Given the description of an element on the screen output the (x, y) to click on. 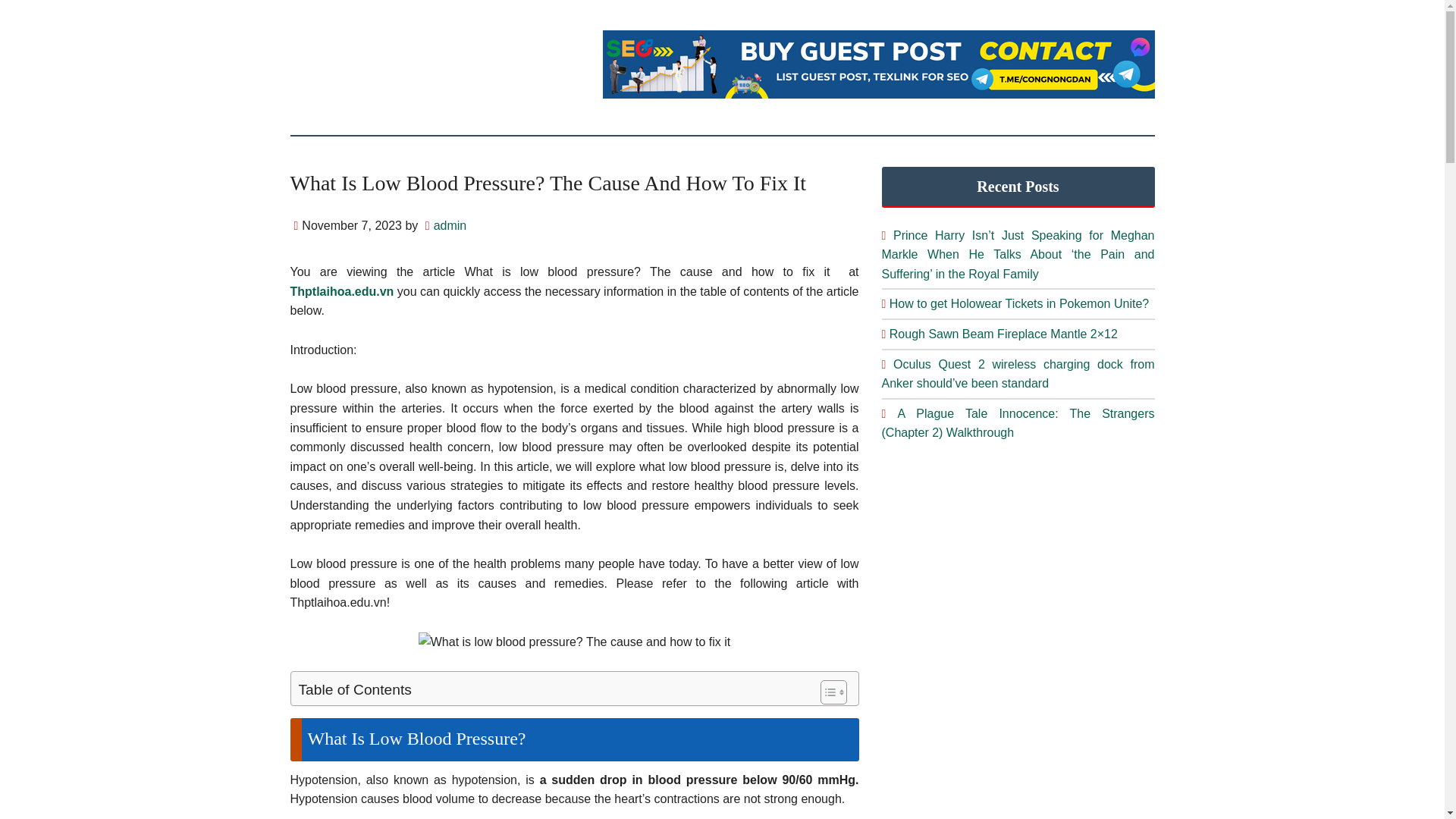
How to get Holowear Tickets in Pokemon Unite? (1018, 303)
admin (450, 225)
Thptlaihoa.edu.vn (341, 291)
What is low blood pressure? The cause and how to fix it (574, 641)
